Given the description of an element on the screen output the (x, y) to click on. 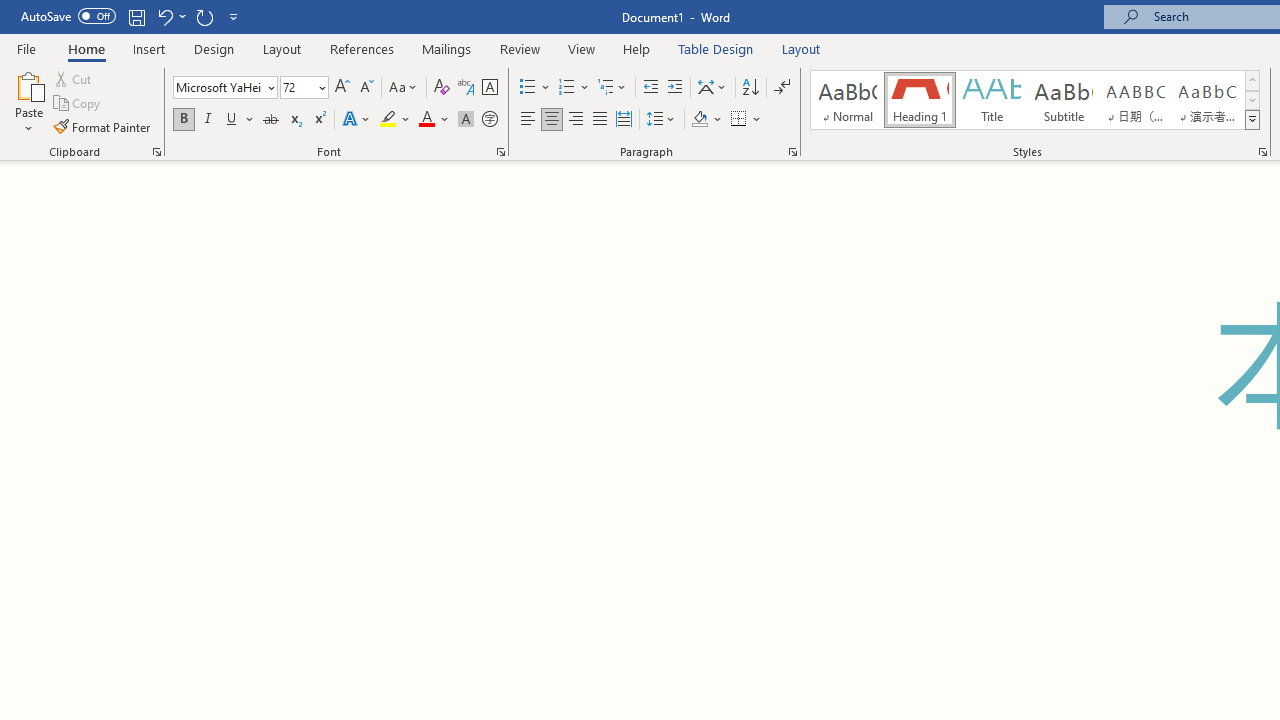
AutomationID: QuickStylesGallery (1035, 99)
Subtitle (1063, 100)
Title (991, 100)
Heading 1 (920, 100)
